Given the description of an element on the screen output the (x, y) to click on. 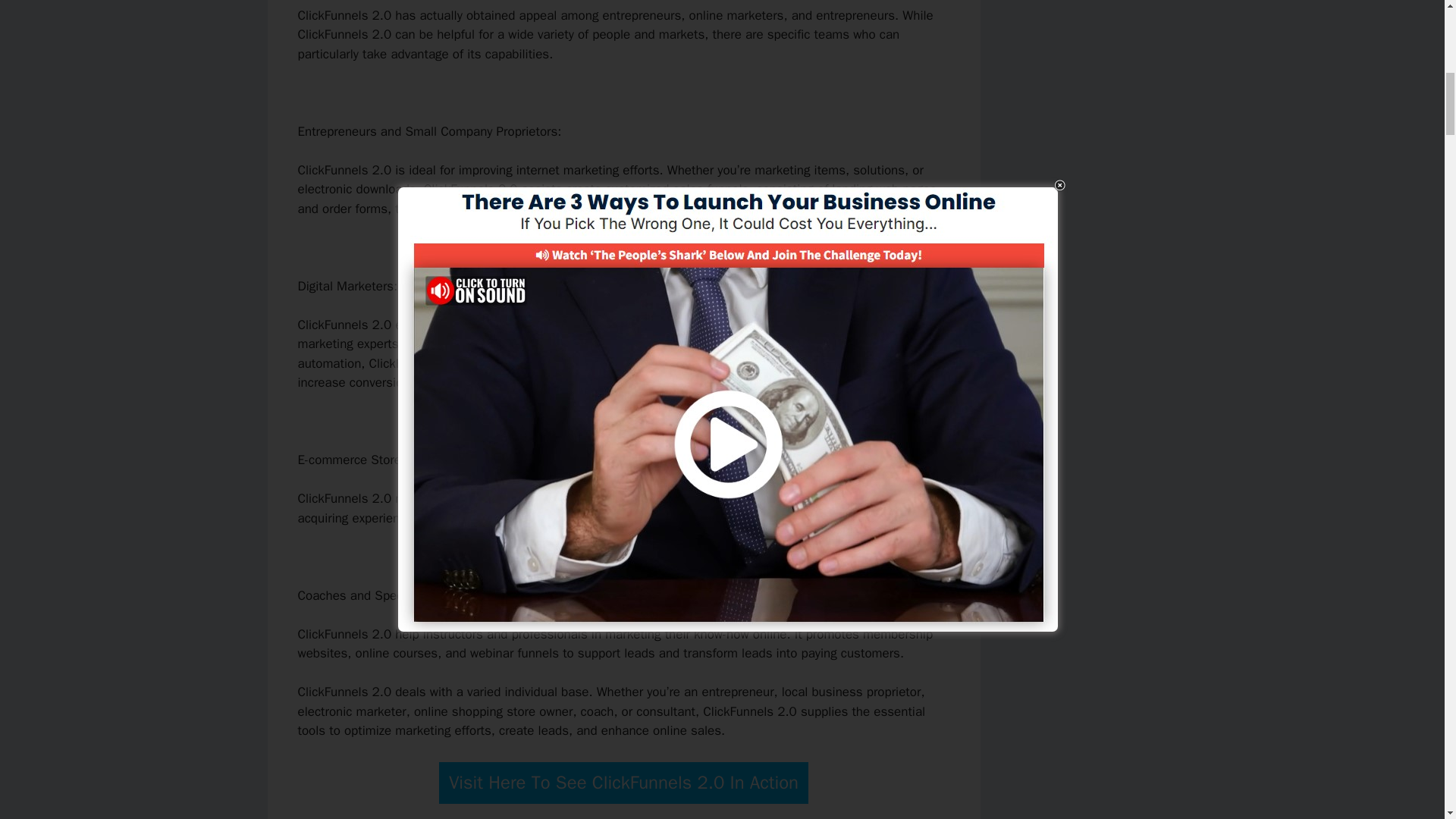
Visit Here To See ClickFunnels 2.0 In Action (623, 782)
